Given the description of an element on the screen output the (x, y) to click on. 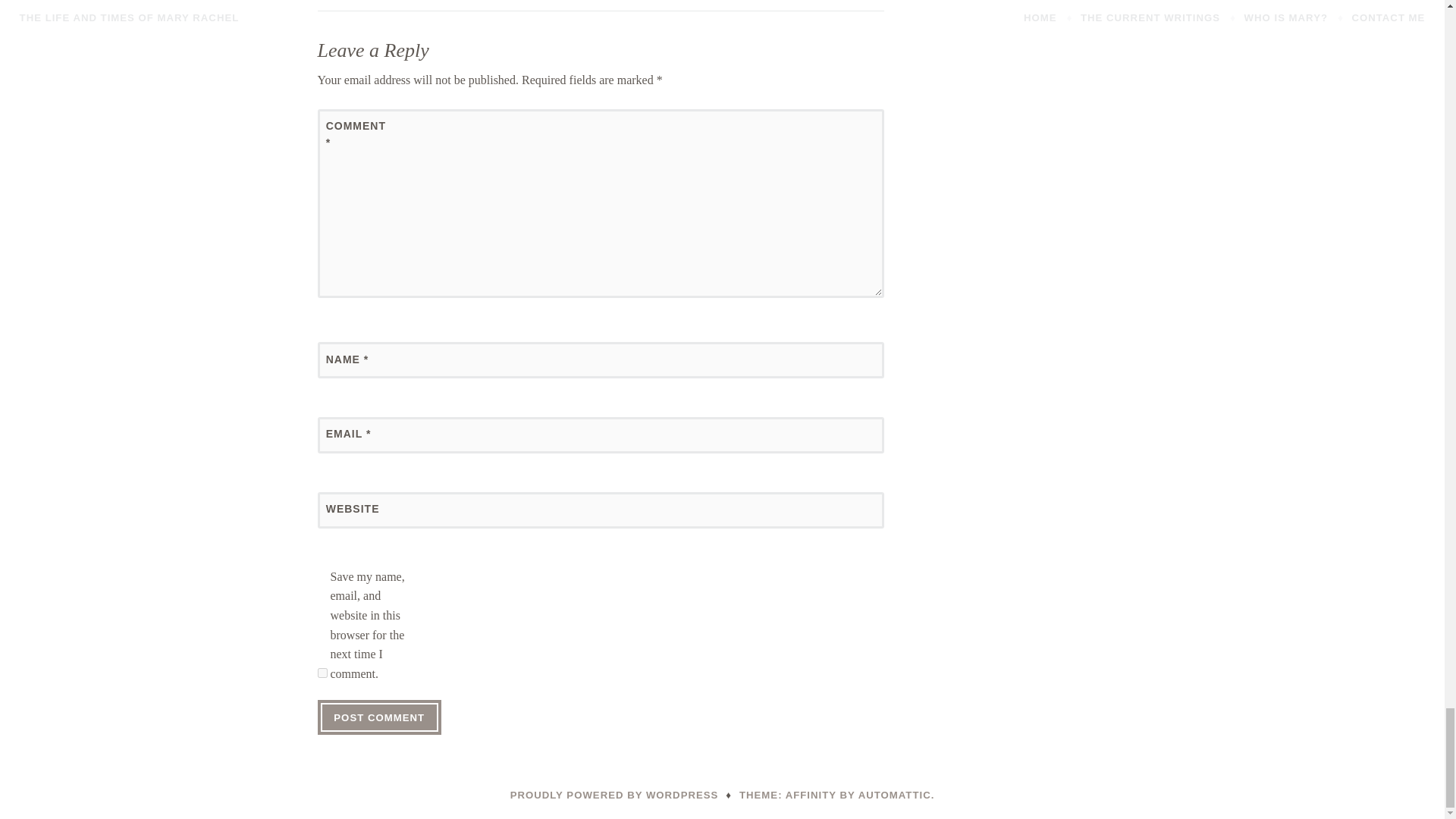
yes (321, 673)
Post Comment (379, 717)
Post Comment (379, 717)
